Given the description of an element on the screen output the (x, y) to click on. 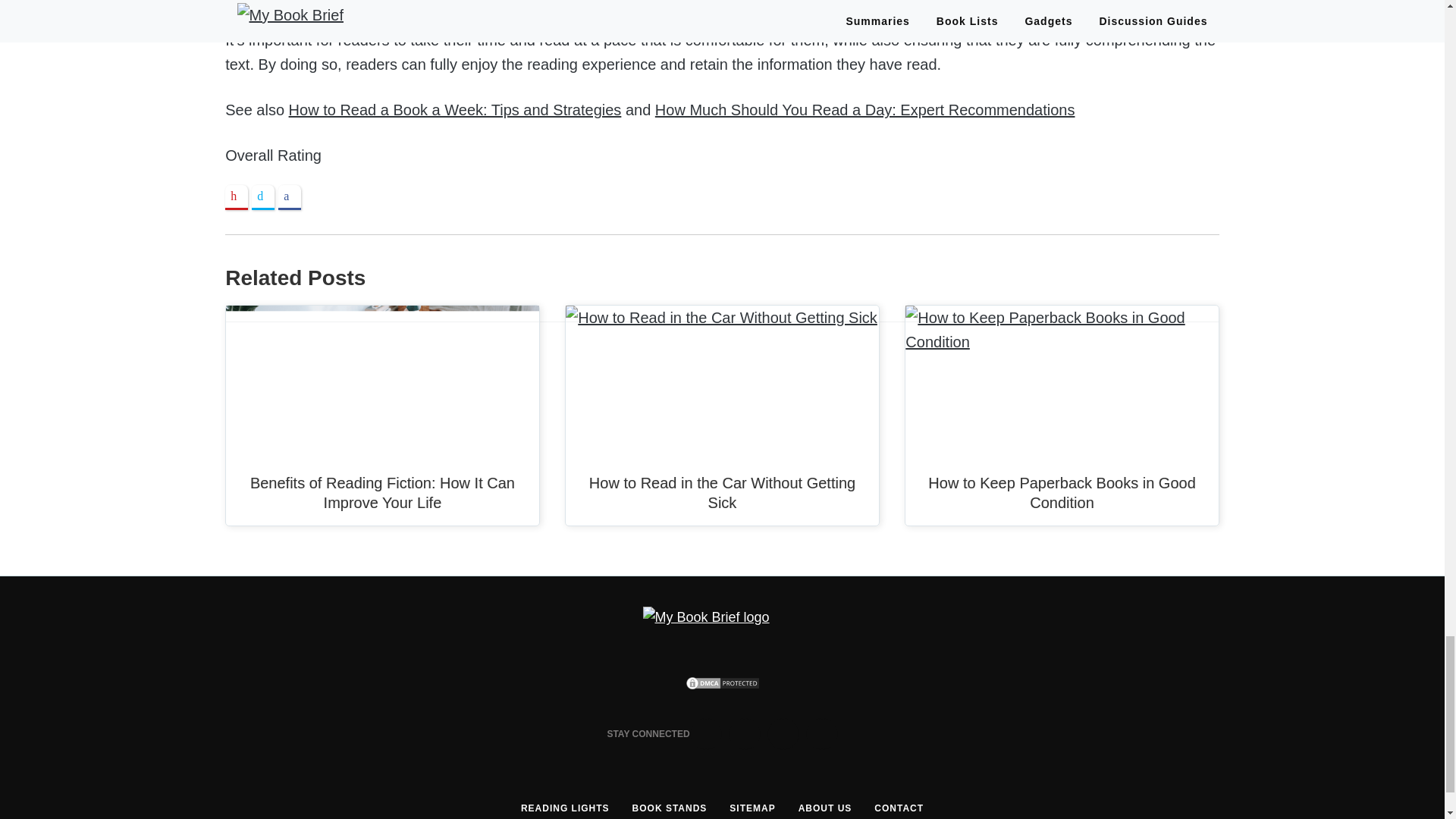
How Much Should You Read a Day: Expert Recommendations (865, 109)
Share on Facebook (289, 197)
Share on Twitter (263, 197)
How to Read a Book a Week: Tips and Strategies (454, 109)
